Given the description of an element on the screen output the (x, y) to click on. 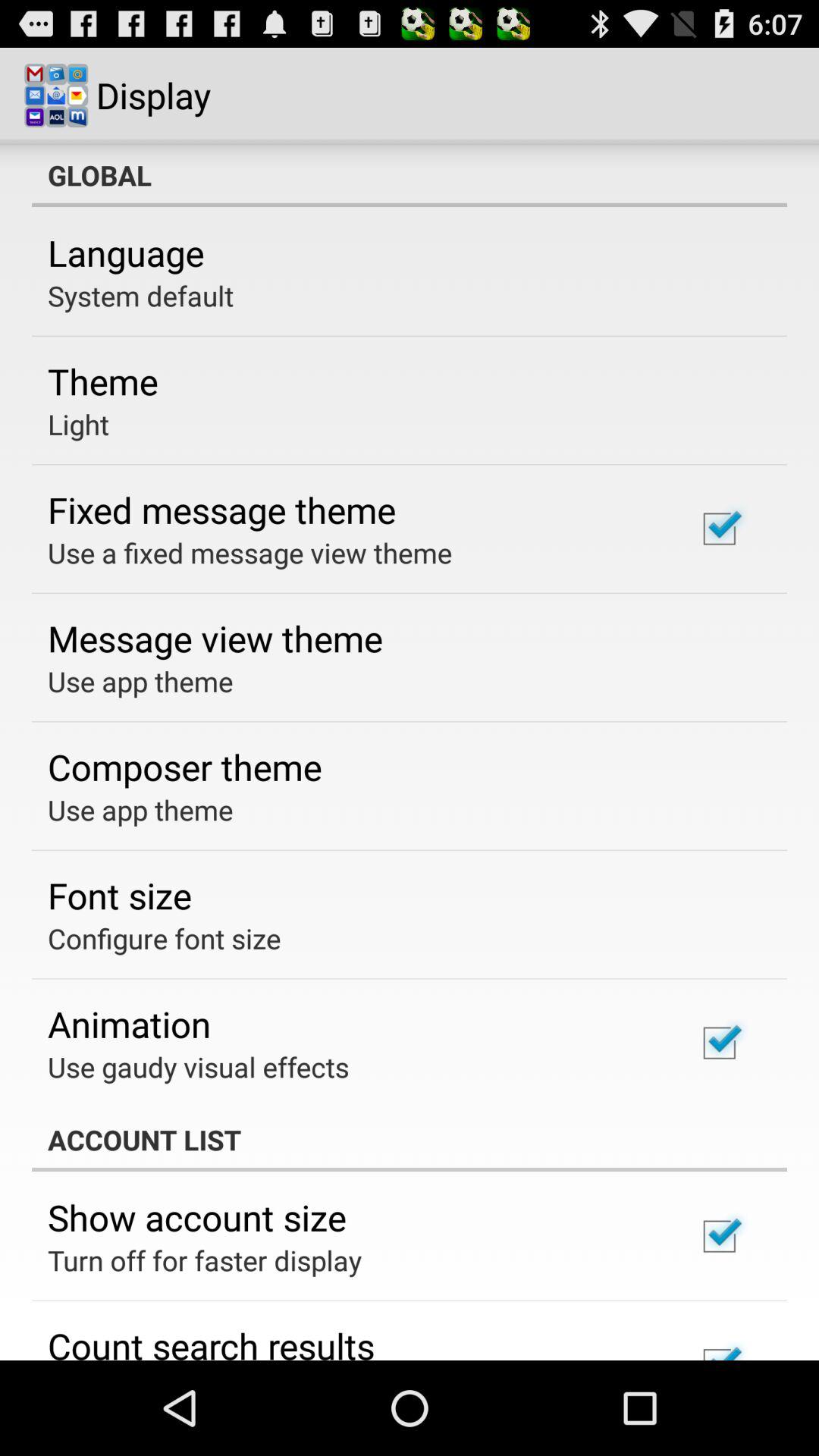
select the app above turn off for app (196, 1217)
